Given the description of an element on the screen output the (x, y) to click on. 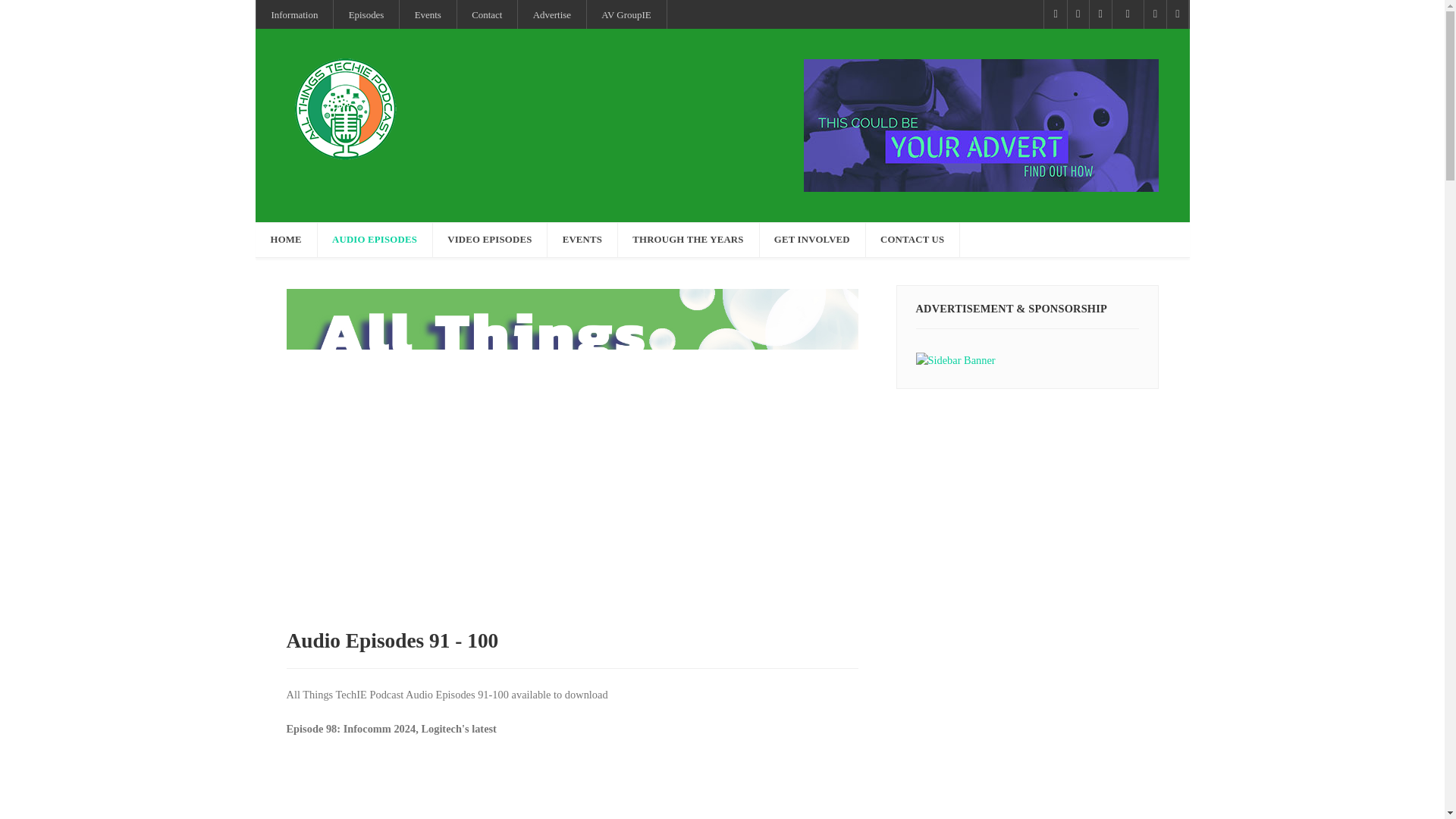
Contact (486, 14)
Twitter (1128, 14)
Information (294, 14)
Advertise (552, 14)
Header Banner (980, 123)
HOME (285, 239)
Events (427, 14)
Episodes (365, 14)
AV GroupIE (625, 14)
AUDIO EPISODES (374, 239)
